Given the description of an element on the screen output the (x, y) to click on. 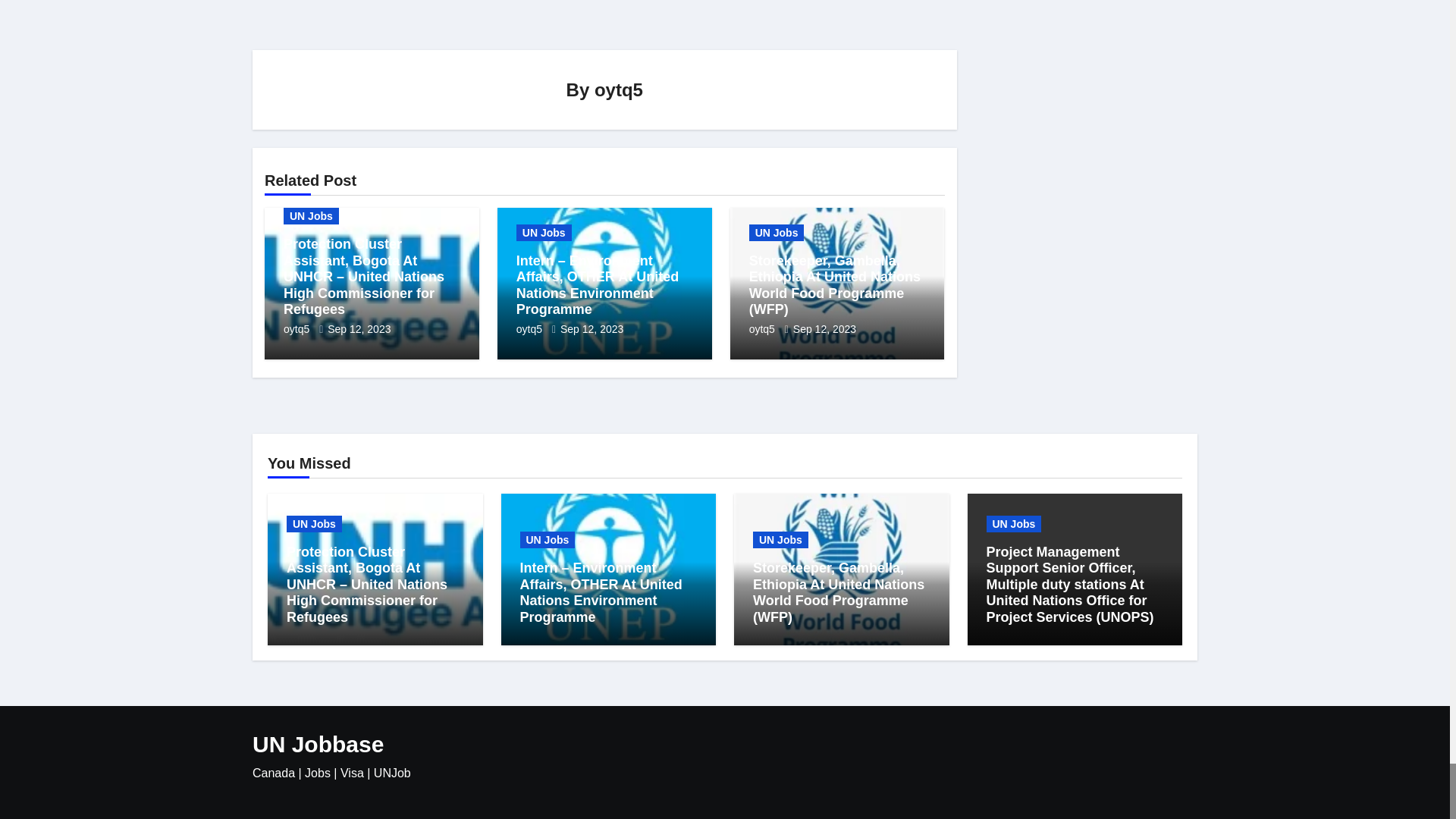
UN Jobs (544, 232)
oytq5 (298, 328)
oytq5 (618, 88)
Sep 12, 2023 (358, 328)
UN Jobs (311, 216)
oytq5 (530, 328)
UN Jobs (777, 232)
Sep 12, 2023 (591, 328)
